Given the description of an element on the screen output the (x, y) to click on. 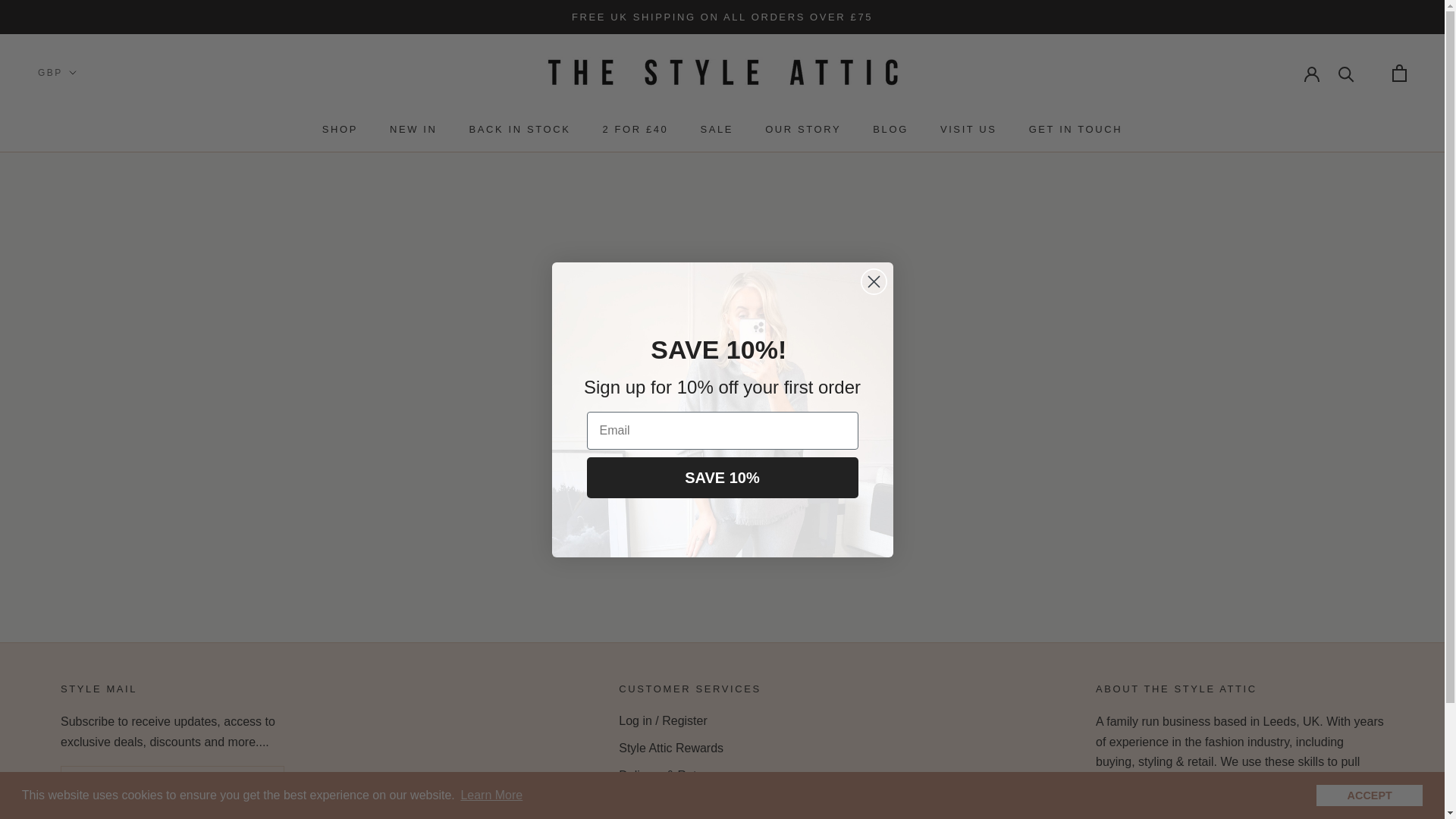
Learn More (491, 794)
Currency selector (57, 72)
ACCEPT (1369, 794)
